Given the description of an element on the screen output the (x, y) to click on. 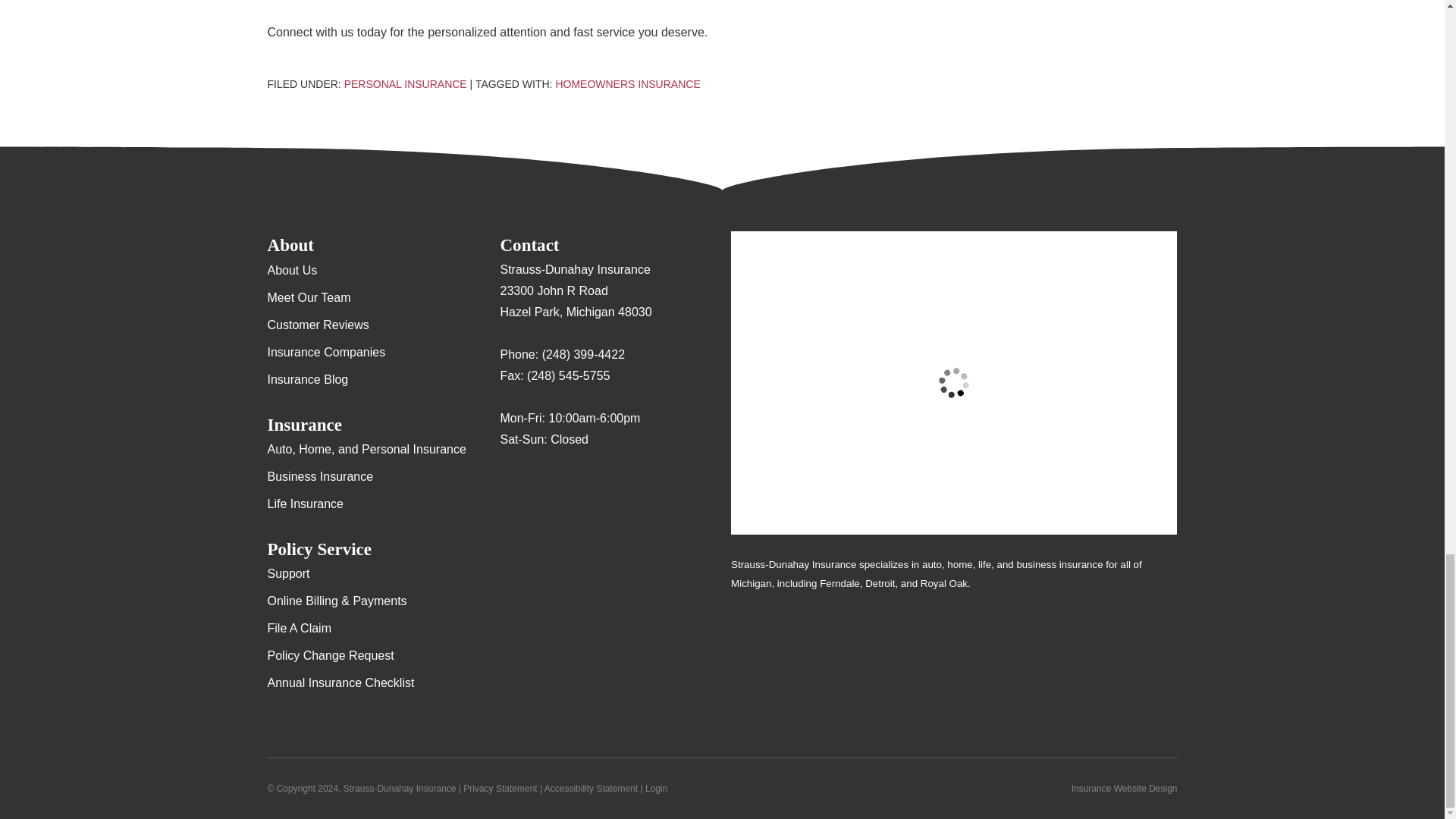
Homeowners Insurance (627, 83)
Yelp (541, 484)
Facebook (571, 484)
Personal Insurance (405, 83)
Google Maps (511, 484)
